Given the description of an element on the screen output the (x, y) to click on. 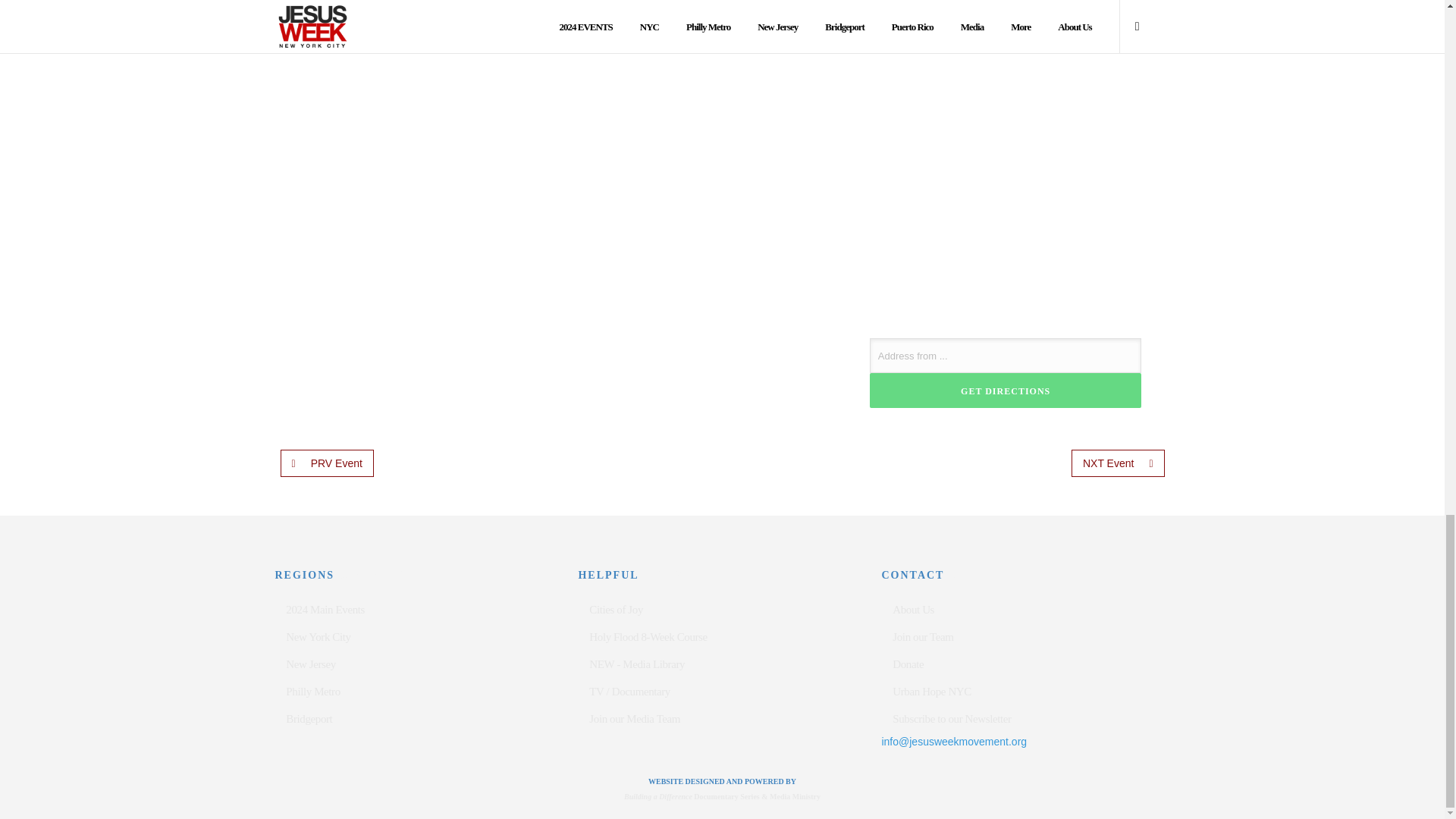
Get Directions (1005, 390)
